Given the description of an element on the screen output the (x, y) to click on. 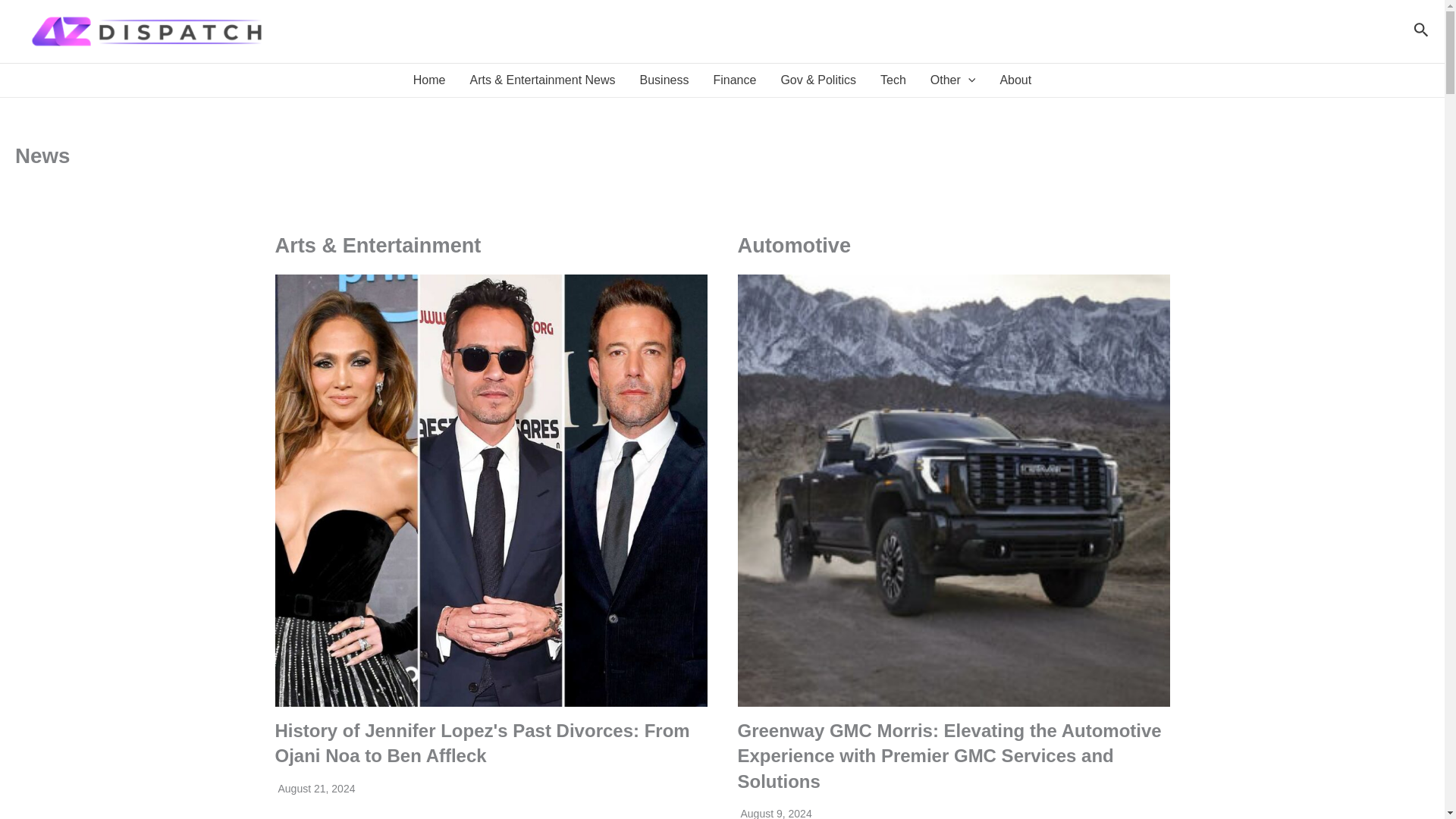
Home (429, 80)
About (1015, 80)
Business (664, 80)
Other (953, 80)
Finance (734, 80)
Tech (892, 80)
